Given the description of an element on the screen output the (x, y) to click on. 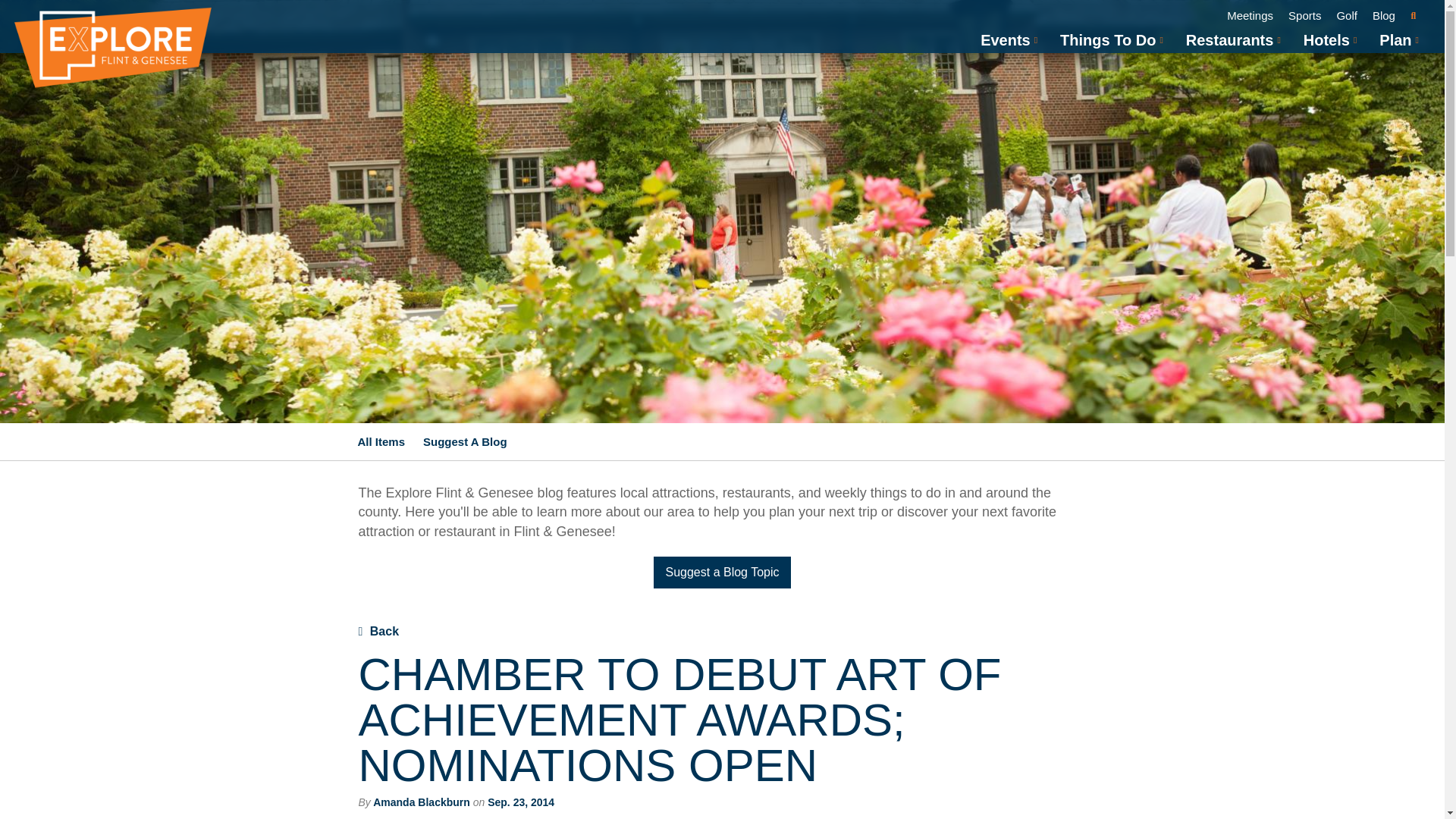
Hotels (1326, 39)
Golf (1346, 15)
Restaurants (1230, 39)
Sports (1304, 15)
Events (1004, 39)
Meetings (1249, 15)
Things To Do (1107, 39)
Blog (1383, 15)
Plan (1394, 39)
